Given the description of an element on the screen output the (x, y) to click on. 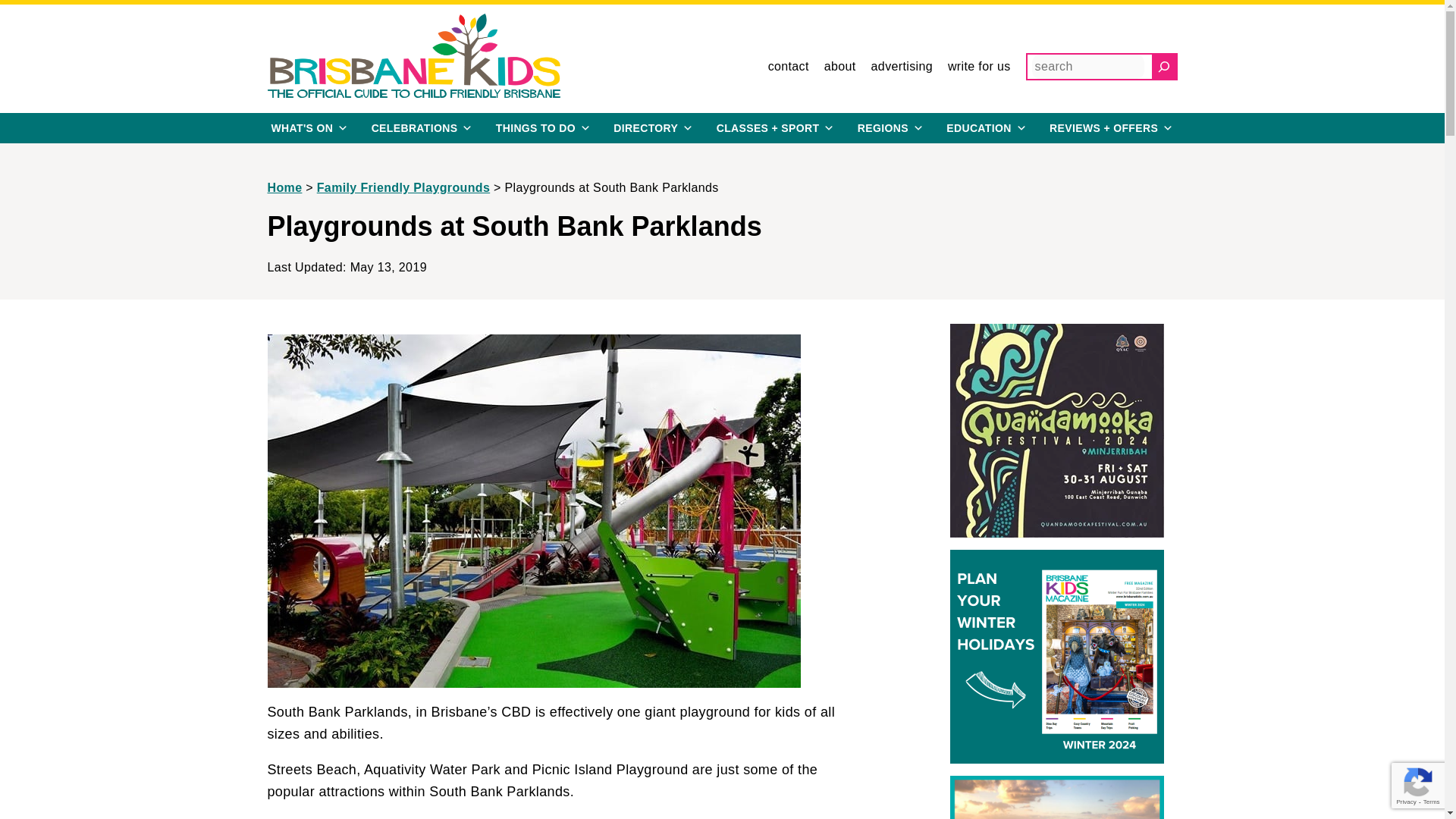
about (840, 66)
advertising (901, 66)
THINGS TO DO (542, 128)
write for us (978, 66)
WHAT'S ON (309, 128)
contact (788, 66)
CELEBRATIONS (422, 128)
kids activities brisbane (776, 128)
